Given the description of an element on the screen output the (x, y) to click on. 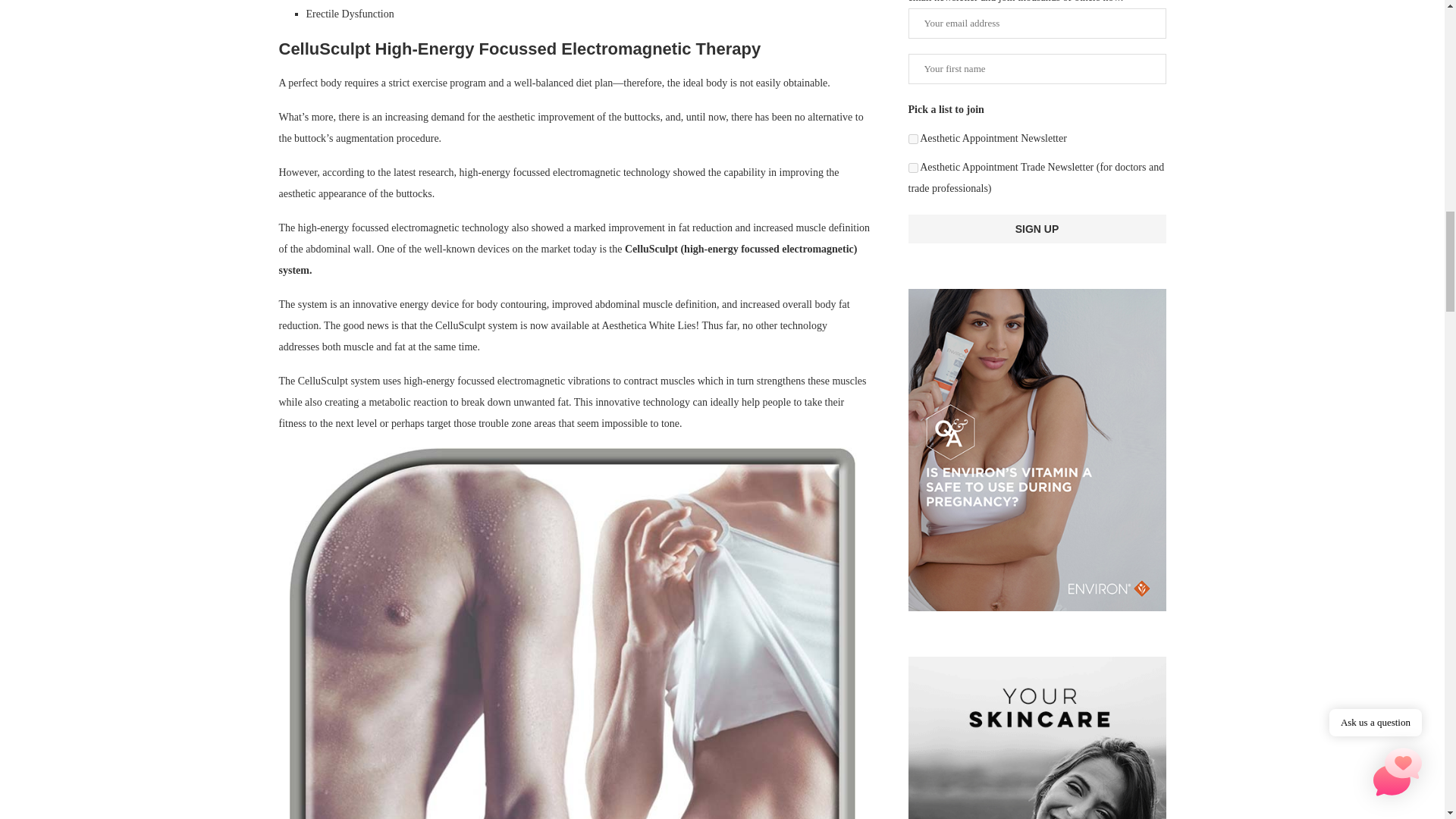
f1f0d68cfb (913, 139)
Sign up (1037, 228)
efa6b7853d (913, 167)
